Given the description of an element on the screen output the (x, y) to click on. 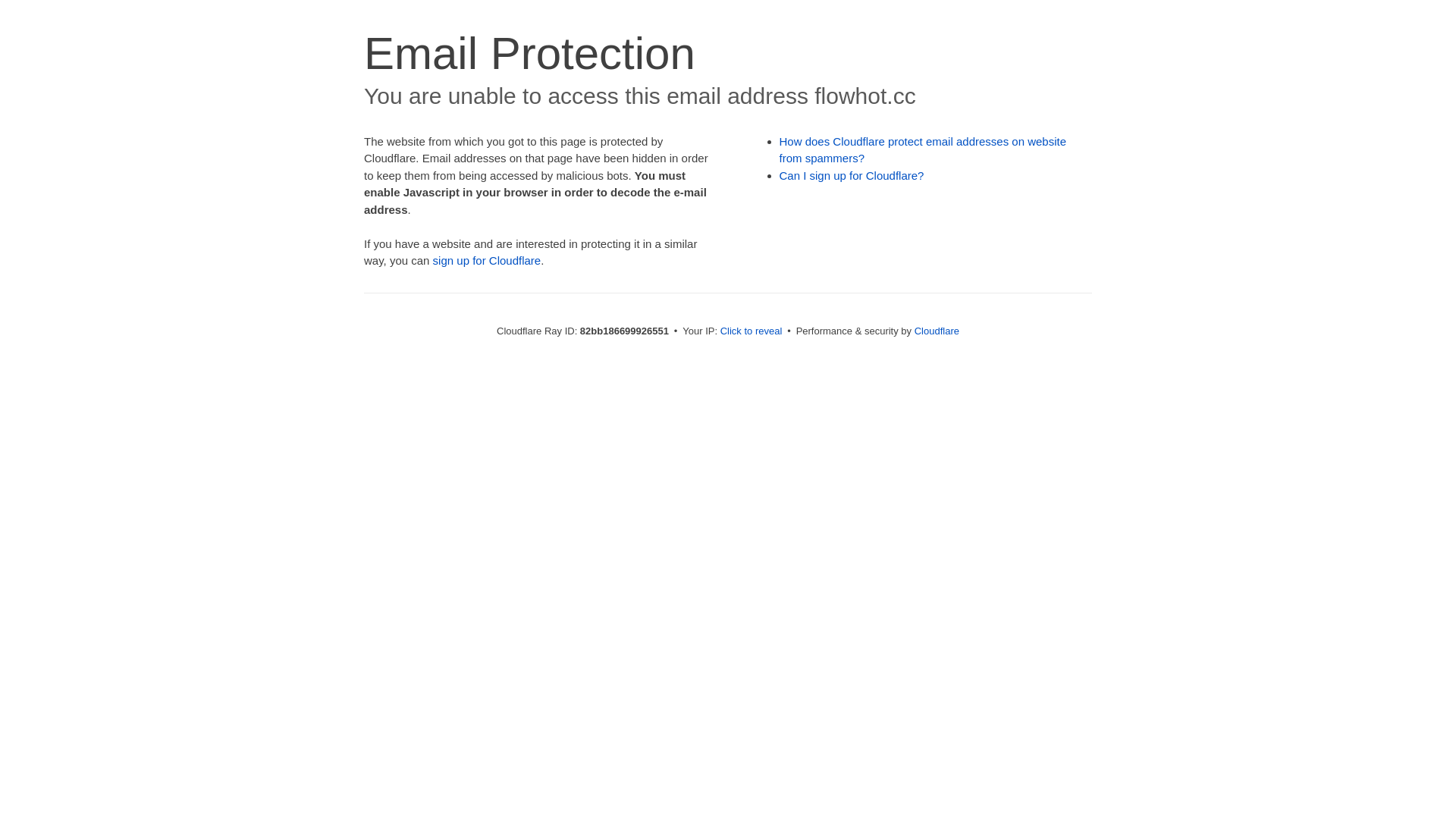
sign up for Cloudflare Element type: text (487, 260)
Can I sign up for Cloudflare? Element type: text (851, 175)
Click to reveal Element type: text (751, 330)
Cloudflare Element type: text (936, 330)
